Given the description of an element on the screen output the (x, y) to click on. 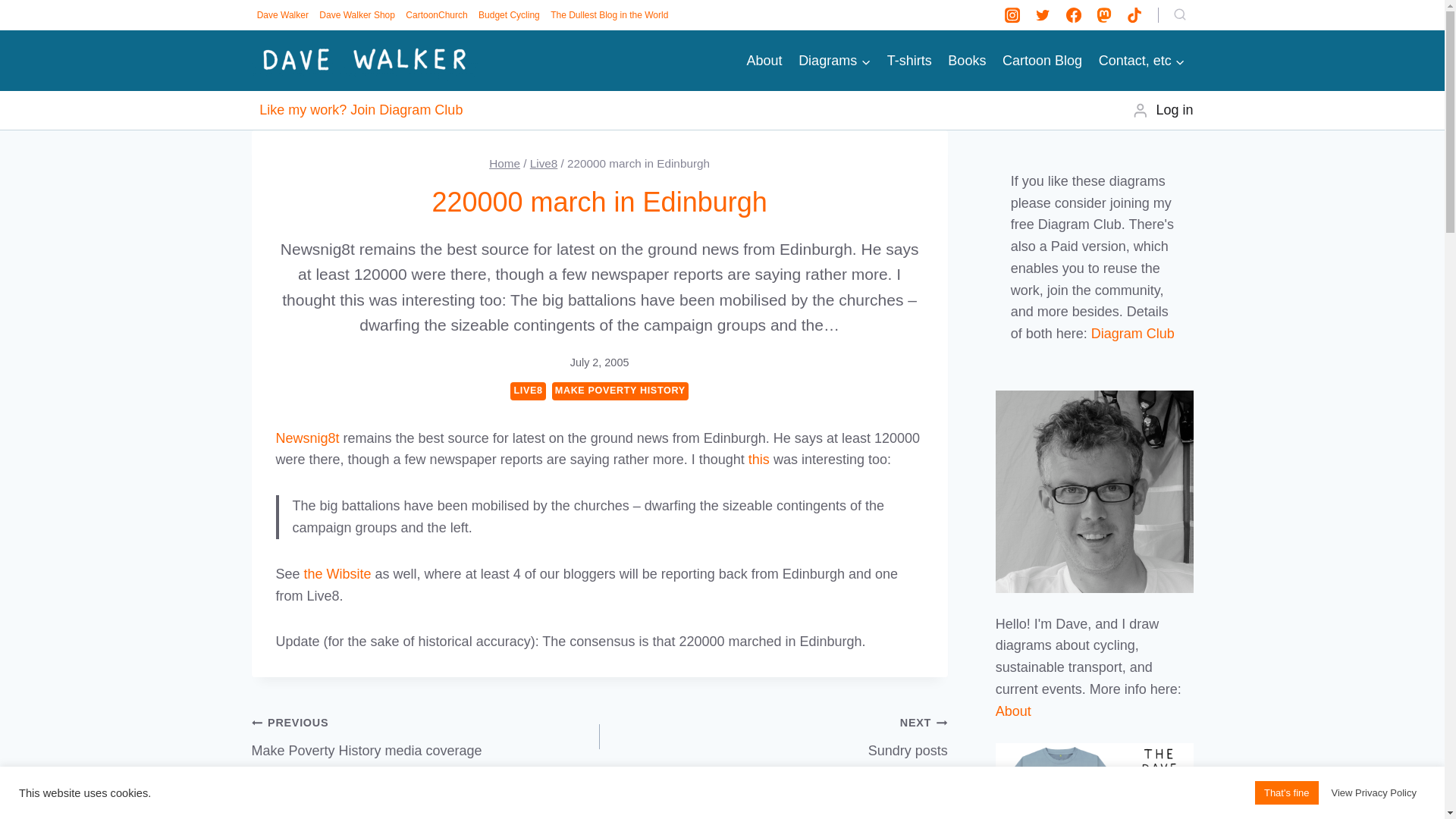
Diagrams (834, 60)
Dave Walker (282, 14)
CartoonChurch (436, 14)
Cartoon Blog (1042, 60)
Books (967, 60)
Budget Cycling (508, 14)
Contact, etc (1141, 60)
About (764, 60)
T-shirts (909, 60)
The Dullest Blog in the World (609, 14)
Dave Walker Shop (357, 14)
